Given the description of an element on the screen output the (x, y) to click on. 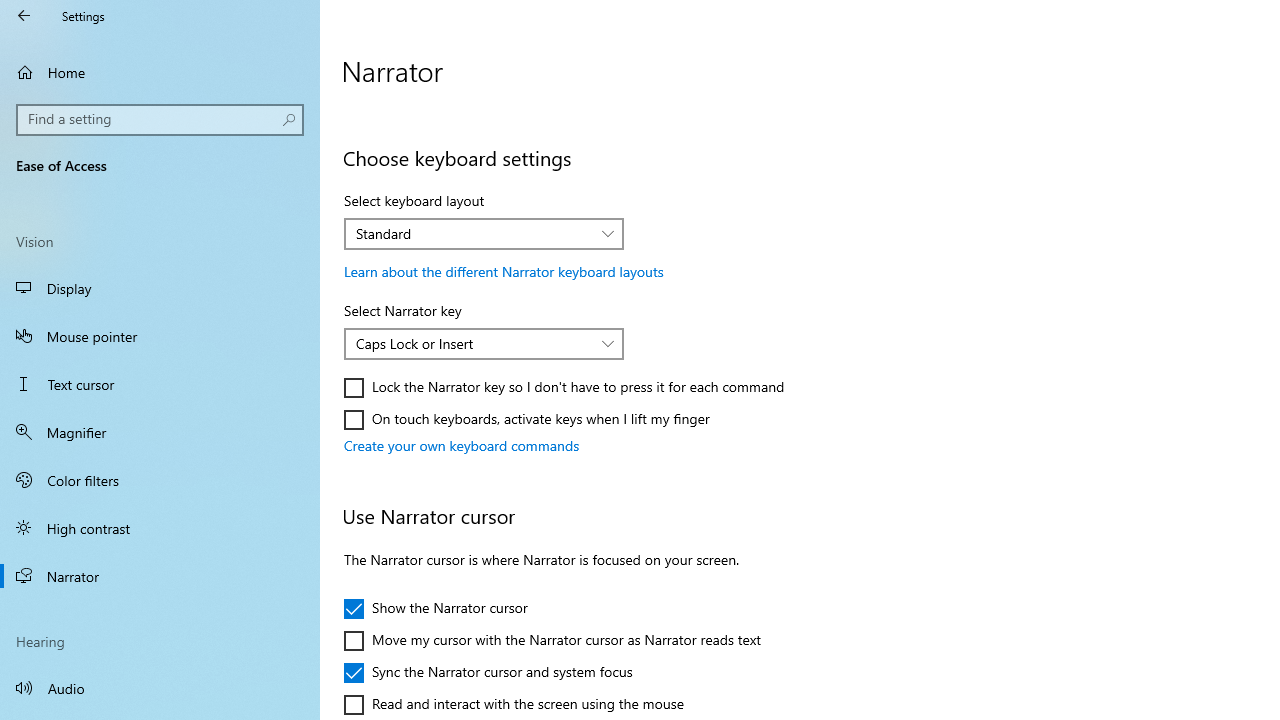
On touch keyboards, activate keys when I lift my finger (527, 419)
Show the Narrator cursor (435, 608)
Mouse pointer (160, 335)
Audio (160, 687)
Color filters (160, 479)
High contrast (160, 527)
Magnifier (160, 431)
Text cursor (160, 384)
